Given the description of an element on the screen output the (x, y) to click on. 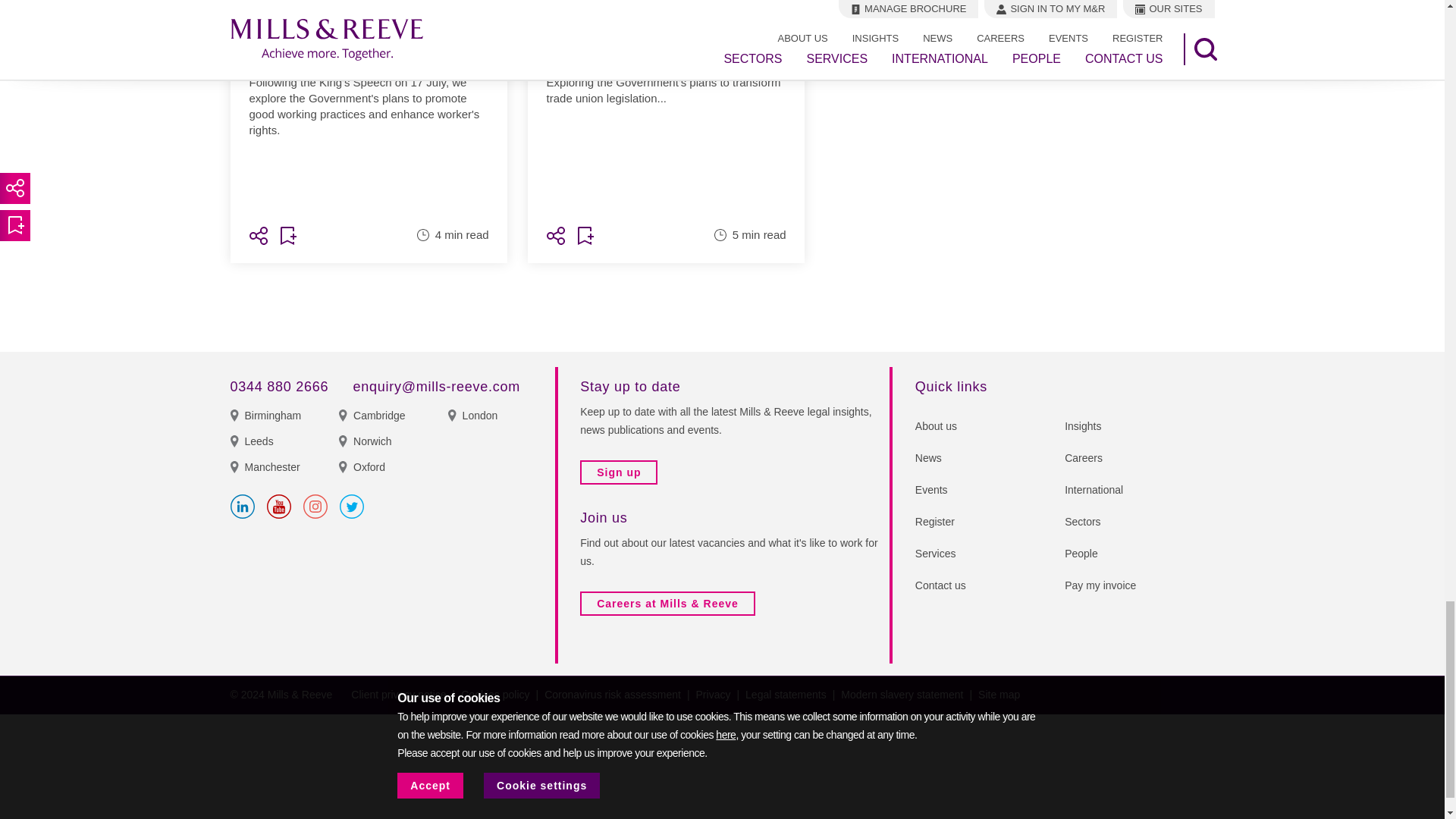
The Employment Rights Bill: focus on collective rights (666, 124)
Labour's employment policy plans: good work (368, 124)
